Given the description of an element on the screen output the (x, y) to click on. 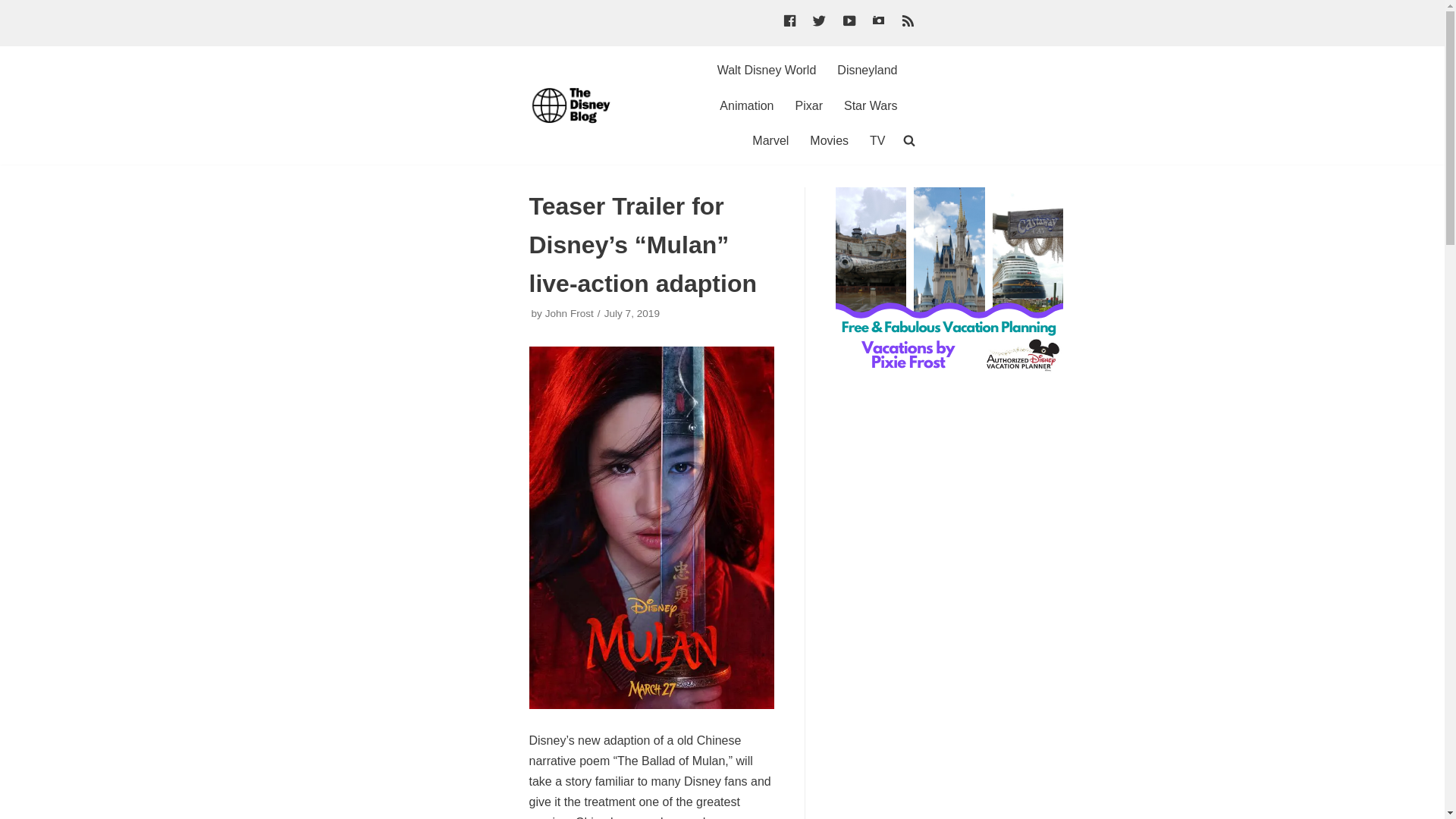
Twitter (819, 22)
Facebook (789, 22)
Star Wars (871, 105)
Pixar (808, 105)
RSS (908, 22)
Posts by John Frost (569, 313)
Animation (746, 105)
Disneyland (866, 69)
Marvel (770, 140)
Instagram (877, 22)
TV (877, 140)
YouTube (848, 22)
Skip to content (15, 7)
John Frost (569, 313)
